Given the description of an element on the screen output the (x, y) to click on. 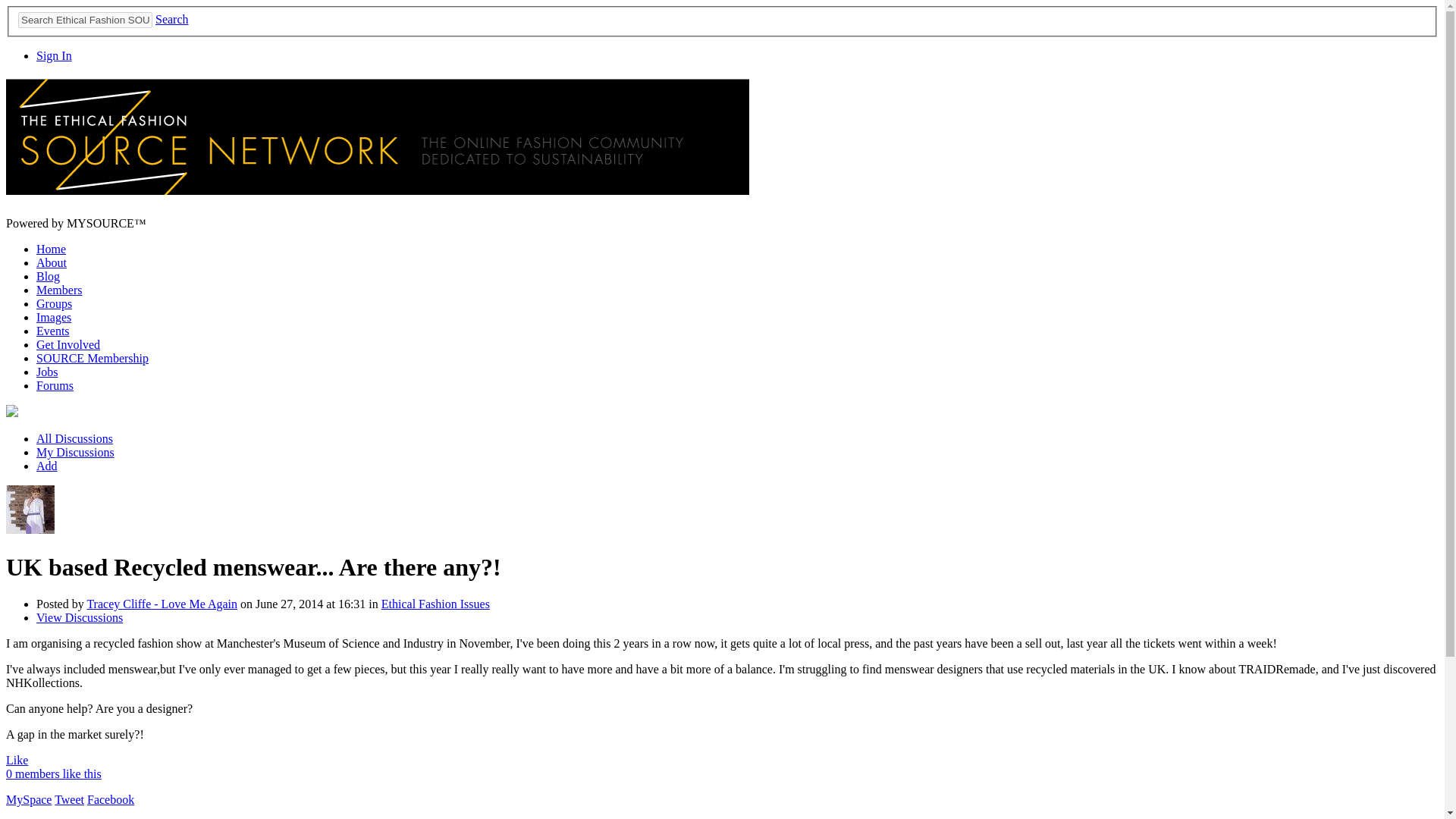
Add (47, 465)
SOURCE Membership (92, 358)
Posted by (60, 603)
Tweet (69, 799)
Facebook (110, 799)
Groups (53, 303)
0 members like this (53, 773)
Images (53, 317)
Events (52, 330)
on June 27, 2014 at 16:31 in (309, 603)
Ethical Fashion Issues (435, 603)
Search (172, 19)
Members (58, 289)
View Discussions (79, 617)
Search Ethical Fashion SOURCE Network (84, 19)
